Given the description of an element on the screen output the (x, y) to click on. 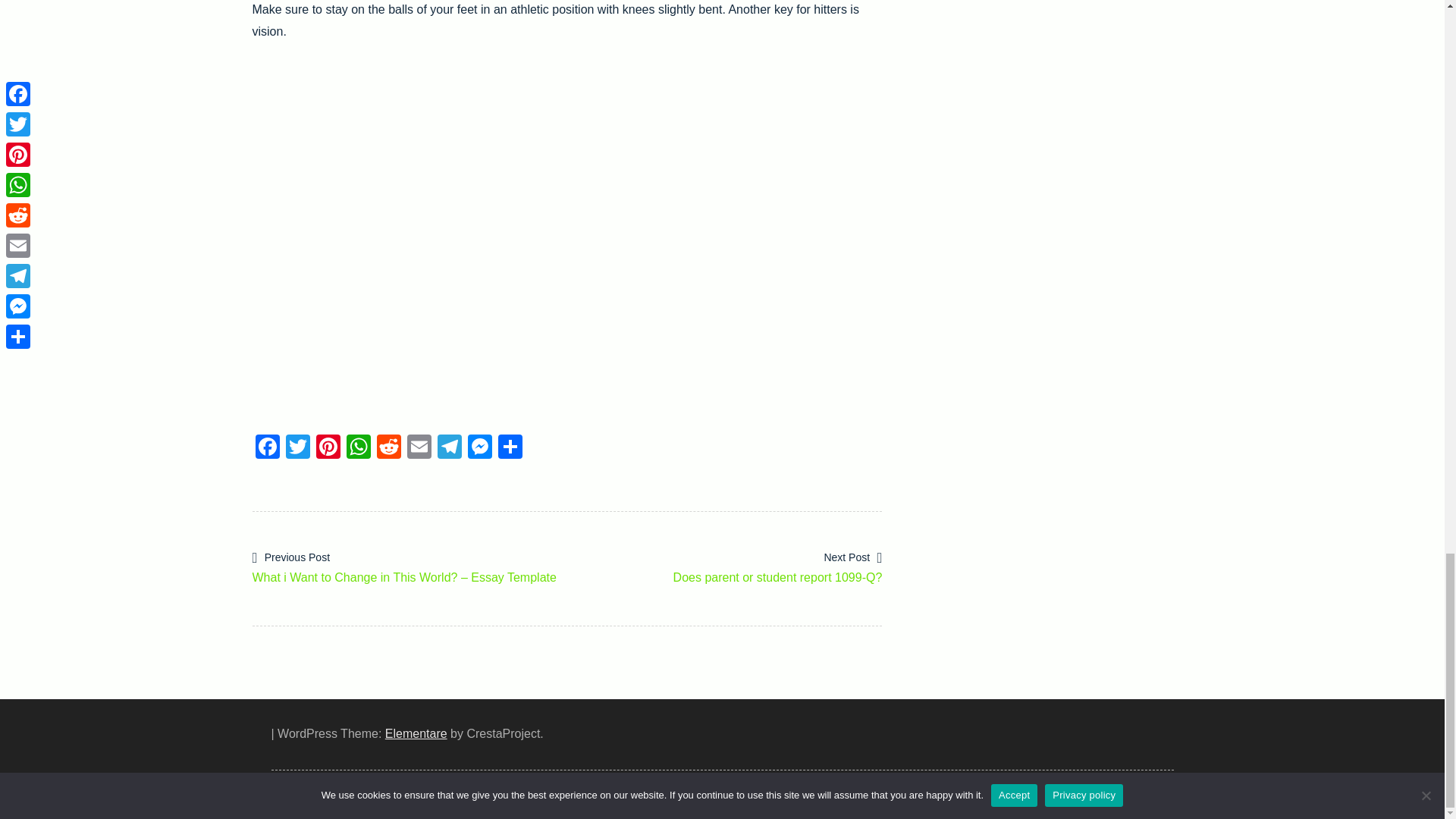
Facebook (266, 448)
Telegram (448, 448)
WhatsApp (724, 565)
MLB The Show 21 PS5 - Aaron Boone Batting Stance!!! (357, 448)
Telegram (387, 448)
Share (448, 448)
Facebook (509, 448)
Twitter (266, 448)
Email (297, 448)
Messenger (418, 448)
Twitter (479, 448)
Reddit (297, 448)
Pinterest (387, 448)
